Given the description of an element on the screen output the (x, y) to click on. 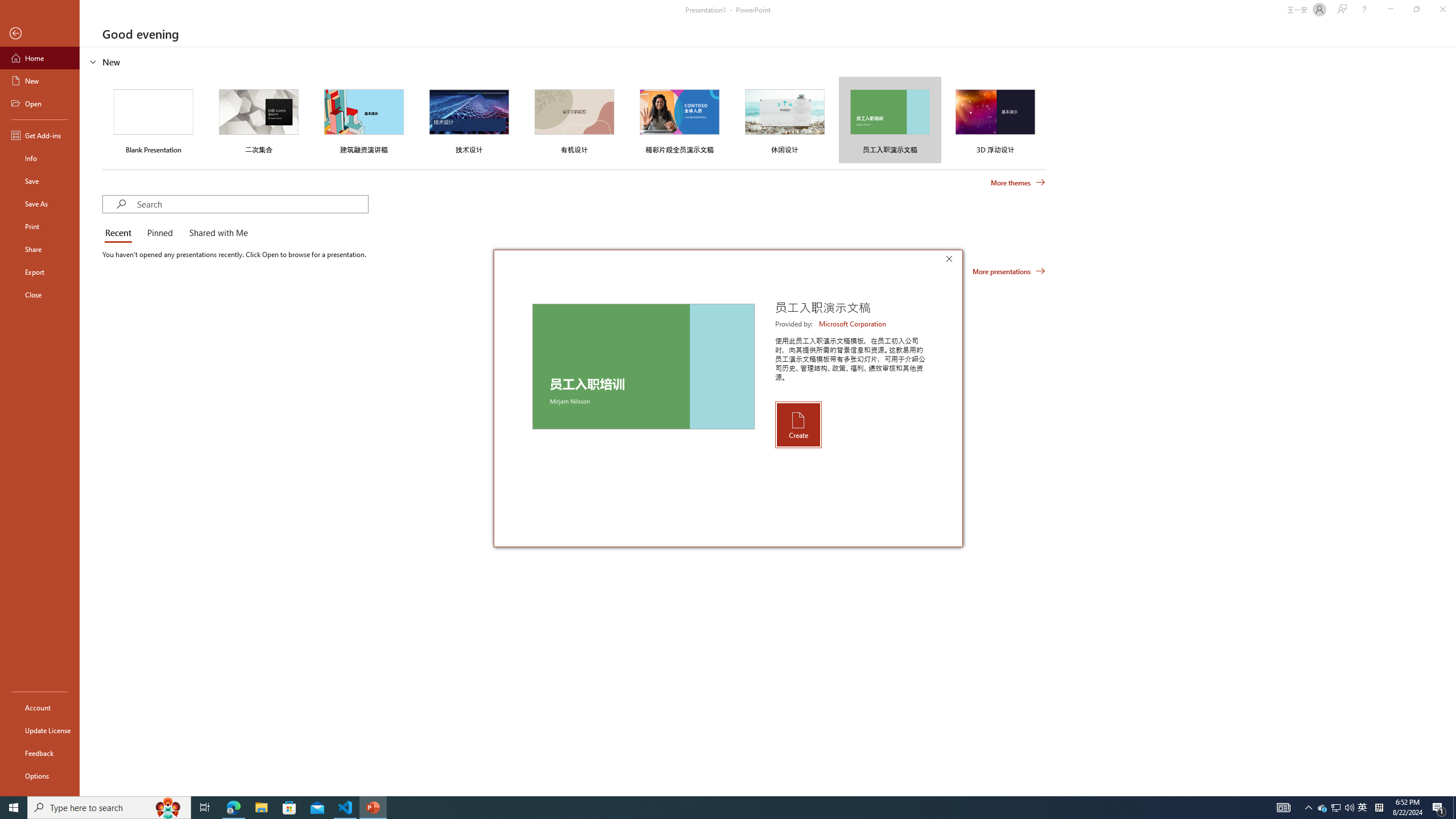
Create (797, 424)
Update License (40, 730)
Get Add-ins (40, 134)
Info (40, 157)
Back (40, 33)
